Given the description of an element on the screen output the (x, y) to click on. 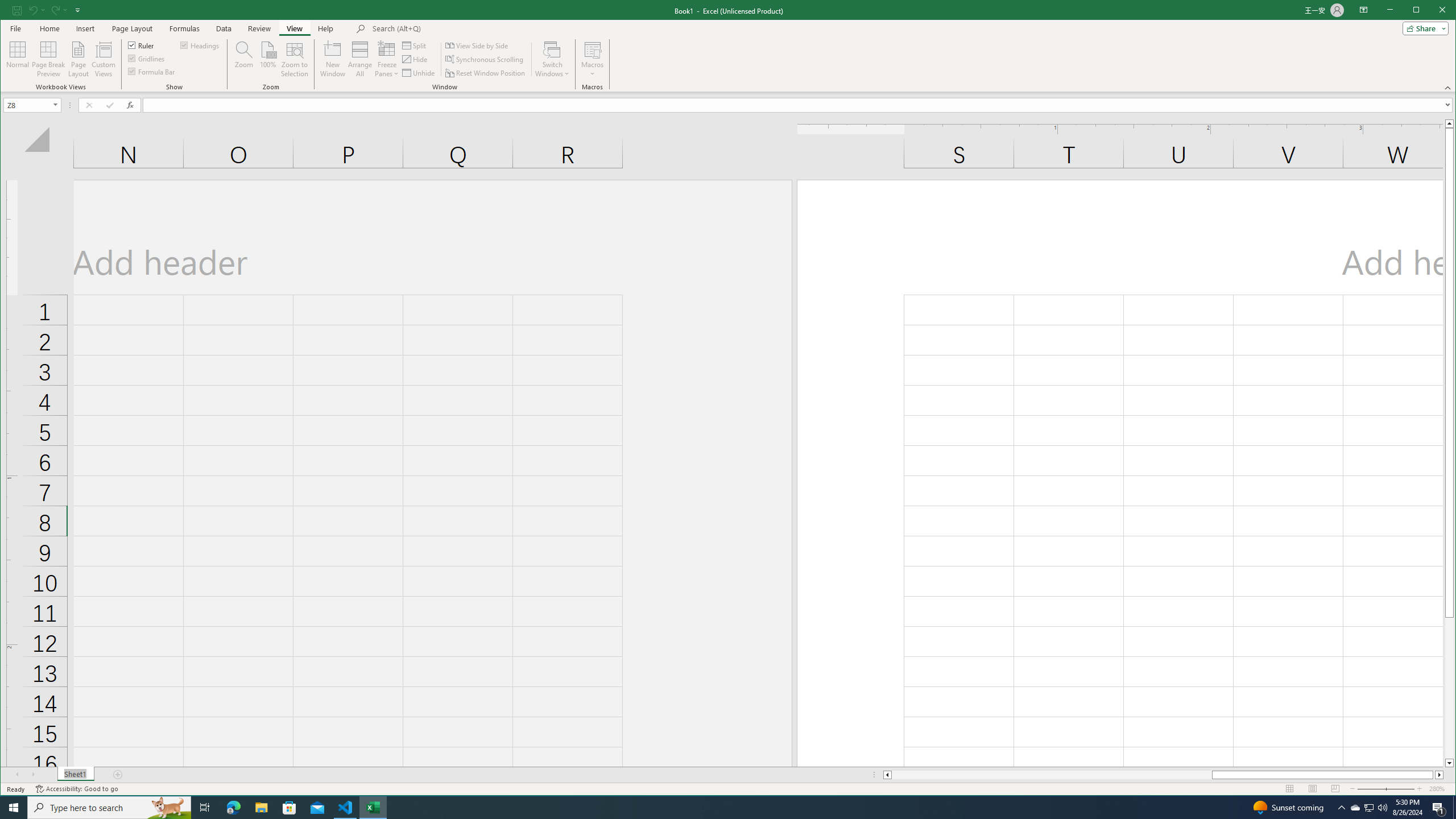
Zoom... (243, 59)
Ruler (1355, 807)
Macros (141, 44)
File Explorer (592, 59)
Ribbon Display Options (261, 807)
Help (1364, 9)
Formulas (325, 28)
Visual Studio Code - 1 running window (184, 28)
Formula Bar (345, 807)
View (799, 104)
Page Break Preview (294, 28)
Microsoft search (48, 59)
